Given the description of an element on the screen output the (x, y) to click on. 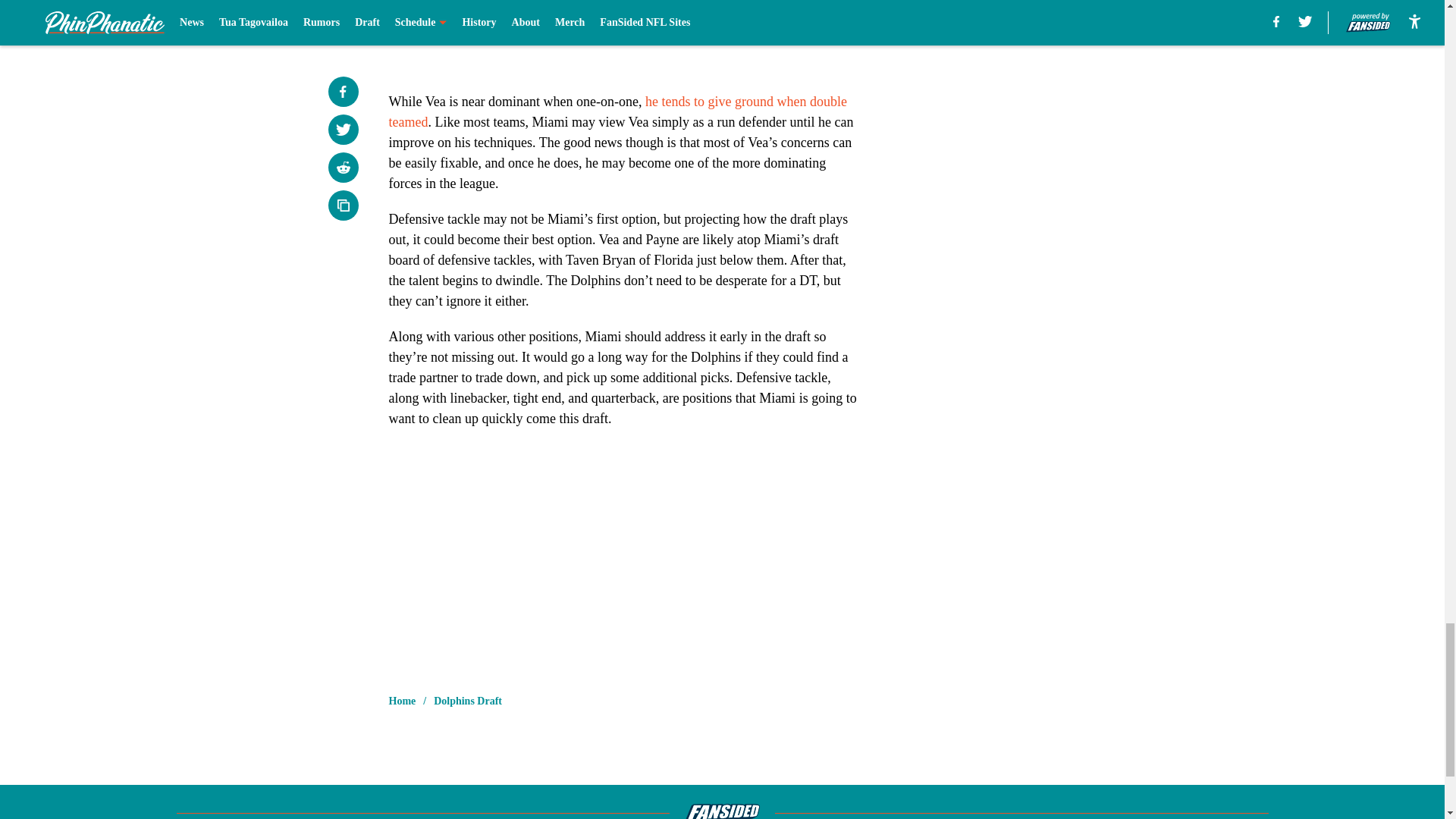
he tends to give ground when double teamed (617, 111)
Home (401, 701)
Dolphins Draft (467, 701)
